Given the description of an element on the screen output the (x, y) to click on. 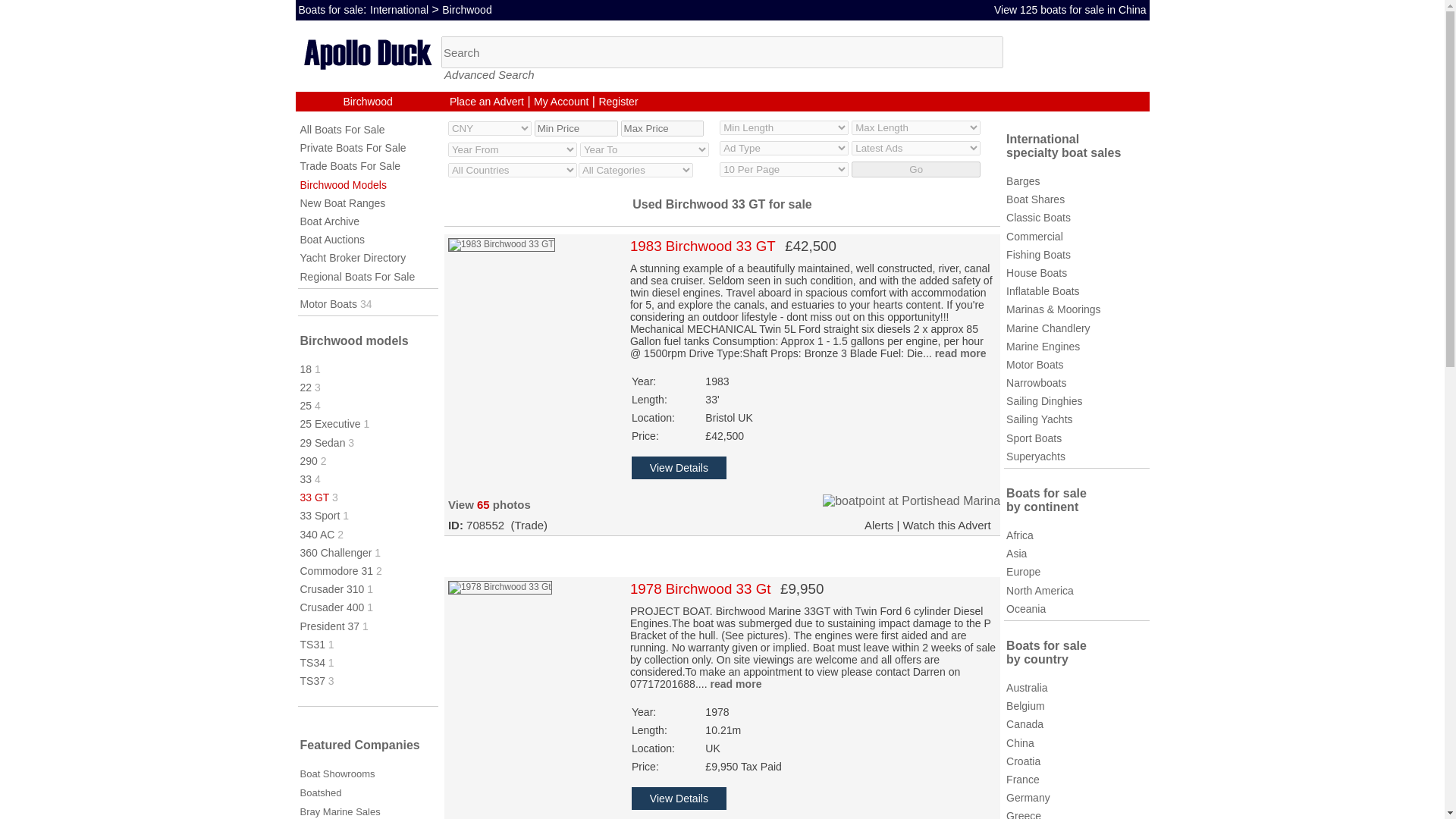
All Boats For Sale (342, 129)
33 GT (314, 497)
340 AC (316, 534)
TS37 (311, 680)
International (398, 9)
Place an Advert (486, 101)
18 (306, 369)
Birchwood (368, 101)
TS34 (311, 662)
Regional Boats For Sale (356, 275)
Boat Search (722, 51)
360 Challenger (335, 552)
Boat Showrooms, UK (337, 773)
Bray Marine Sales, UK (339, 811)
Boat Archive (329, 221)
